Given the description of an element on the screen output the (x, y) to click on. 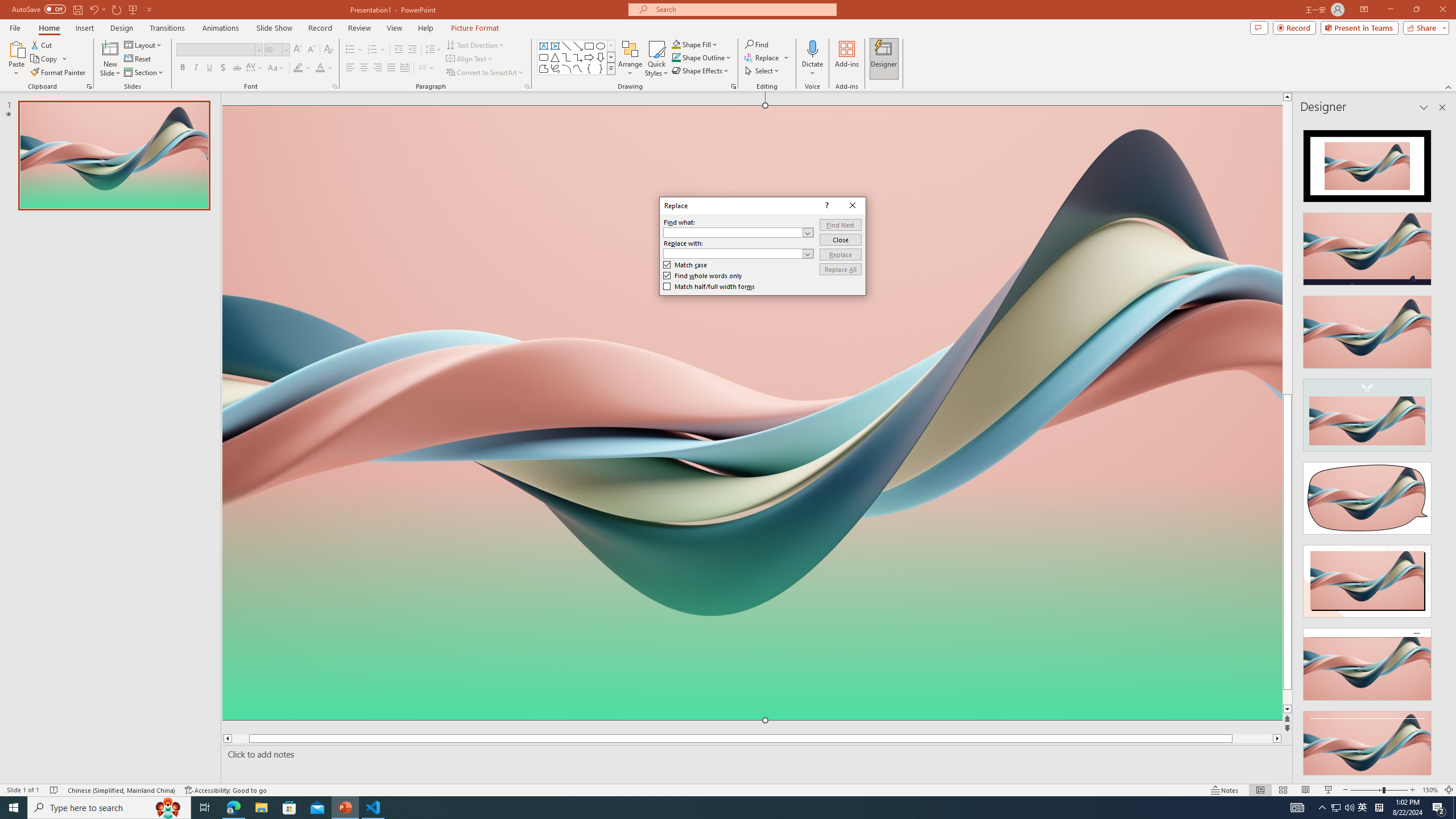
Picture Format (475, 28)
